Given the description of an element on the screen output the (x, y) to click on. 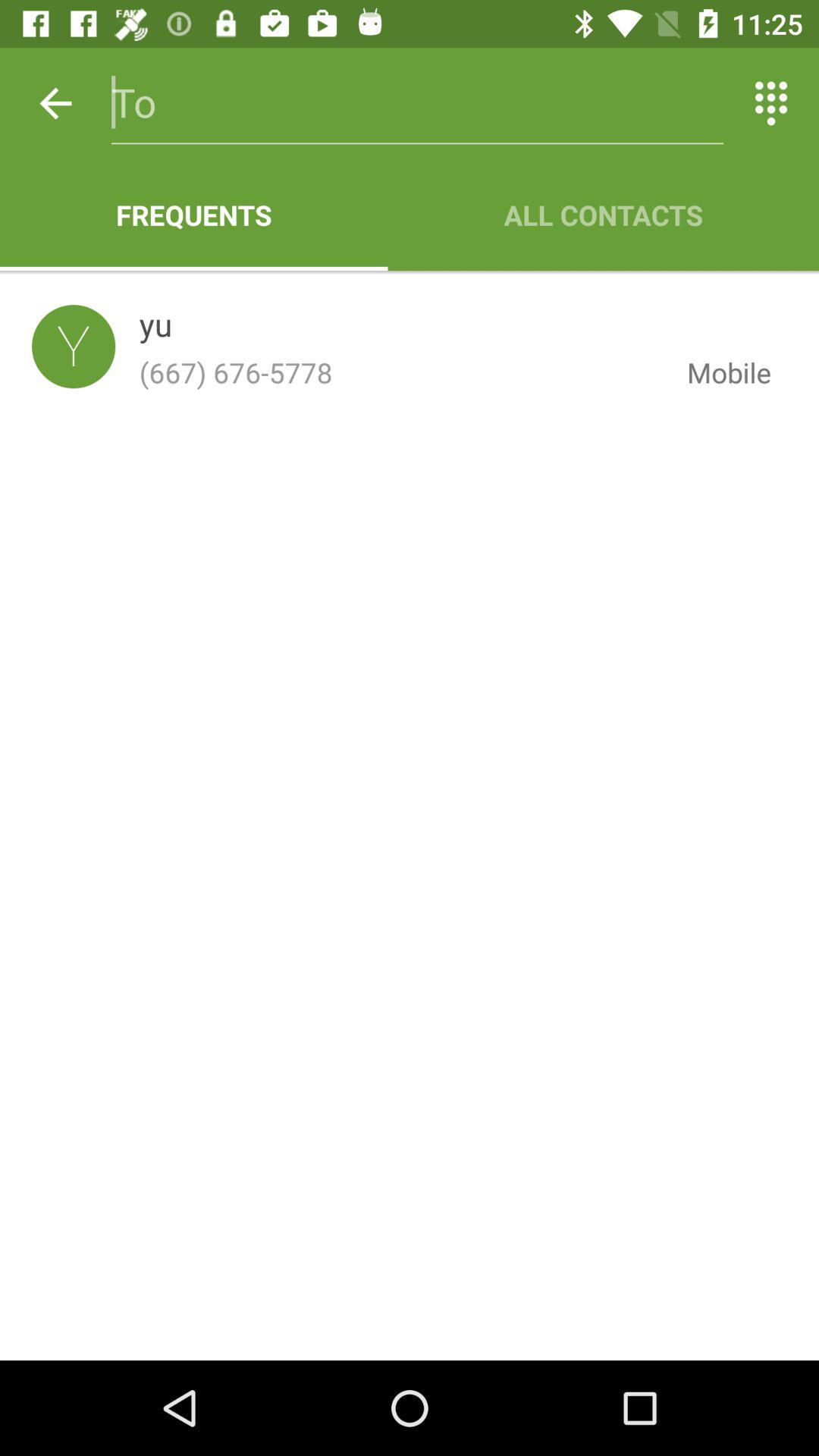
turn off item below yu (401, 372)
